Given the description of an element on the screen output the (x, y) to click on. 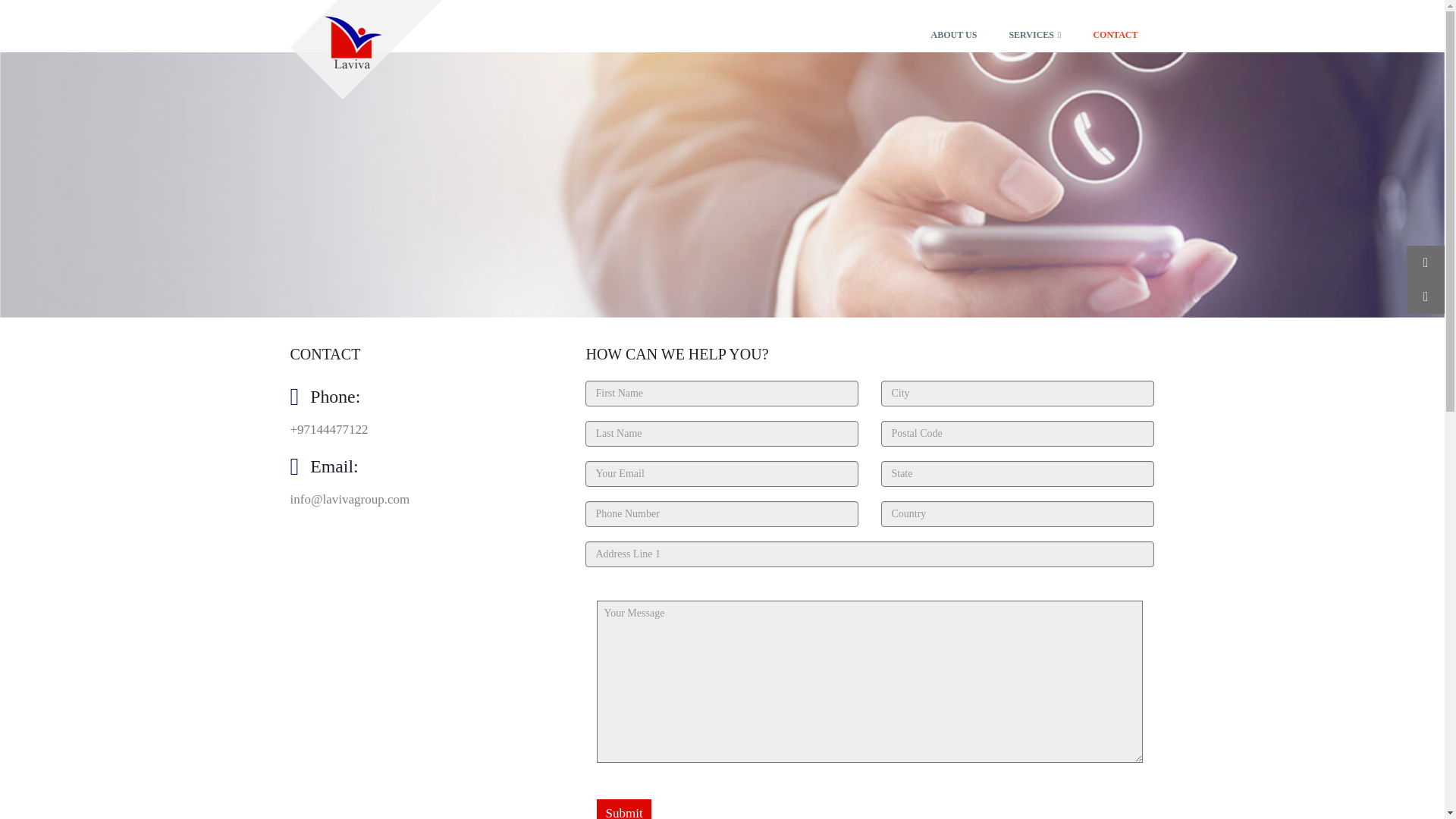
Submit (623, 809)
CONTACT (1115, 25)
ABOUT US (953, 25)
Laviva - Group Of Companies in Dubai (365, 49)
SERVICES (1033, 25)
Submit (623, 809)
